Given the description of an element on the screen output the (x, y) to click on. 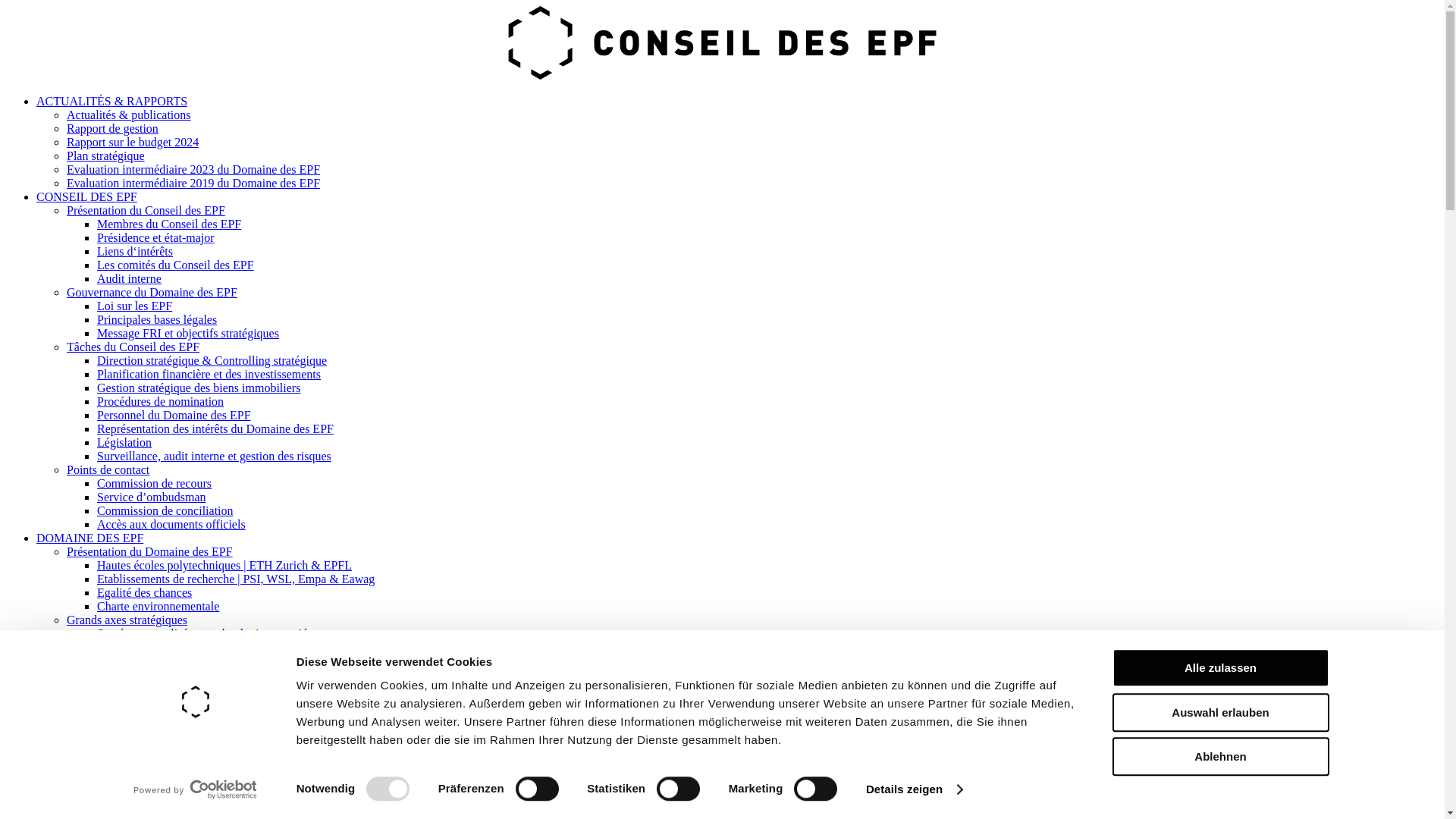
DOMAINE DES EPF Element type: text (89, 537)
Ablehnen Element type: text (1219, 756)
Etablissements de recherche | PSI, WSL, Empa & Eawag Element type: text (235, 578)
CONSEIL DES EPF Element type: text (86, 196)
Membres du Conseil des EPF Element type: text (169, 223)
Advanced Manufacturing Element type: text (159, 660)
Audit interne Element type: text (129, 278)
Rapport de gestion Element type: text (112, 809)
Rapport sur le budget 2024 Element type: text (132, 141)
Surveillance, audit interne et gestion des risques Element type: text (214, 455)
Details zeigen Element type: text (914, 789)
Commission de recours Element type: text (154, 482)
Loi sur les EPF Element type: text (134, 305)
Alle zulassen Element type: text (1219, 667)
Charte environnementale Element type: text (158, 605)
Gouvernance du Domaine des EPF Element type: text (151, 291)
Rapport de gestion Element type: text (112, 128)
Commission de conciliation Element type: text (165, 510)
Auswahl erlauben Element type: text (1219, 712)
Personnel du Domaine des EPF Element type: text (174, 414)
Initiatives conjointes Element type: text (117, 728)
Points de contact Element type: text (107, 469)
Open Research Data Element type: text (116, 755)
